Given the description of an element on the screen output the (x, y) to click on. 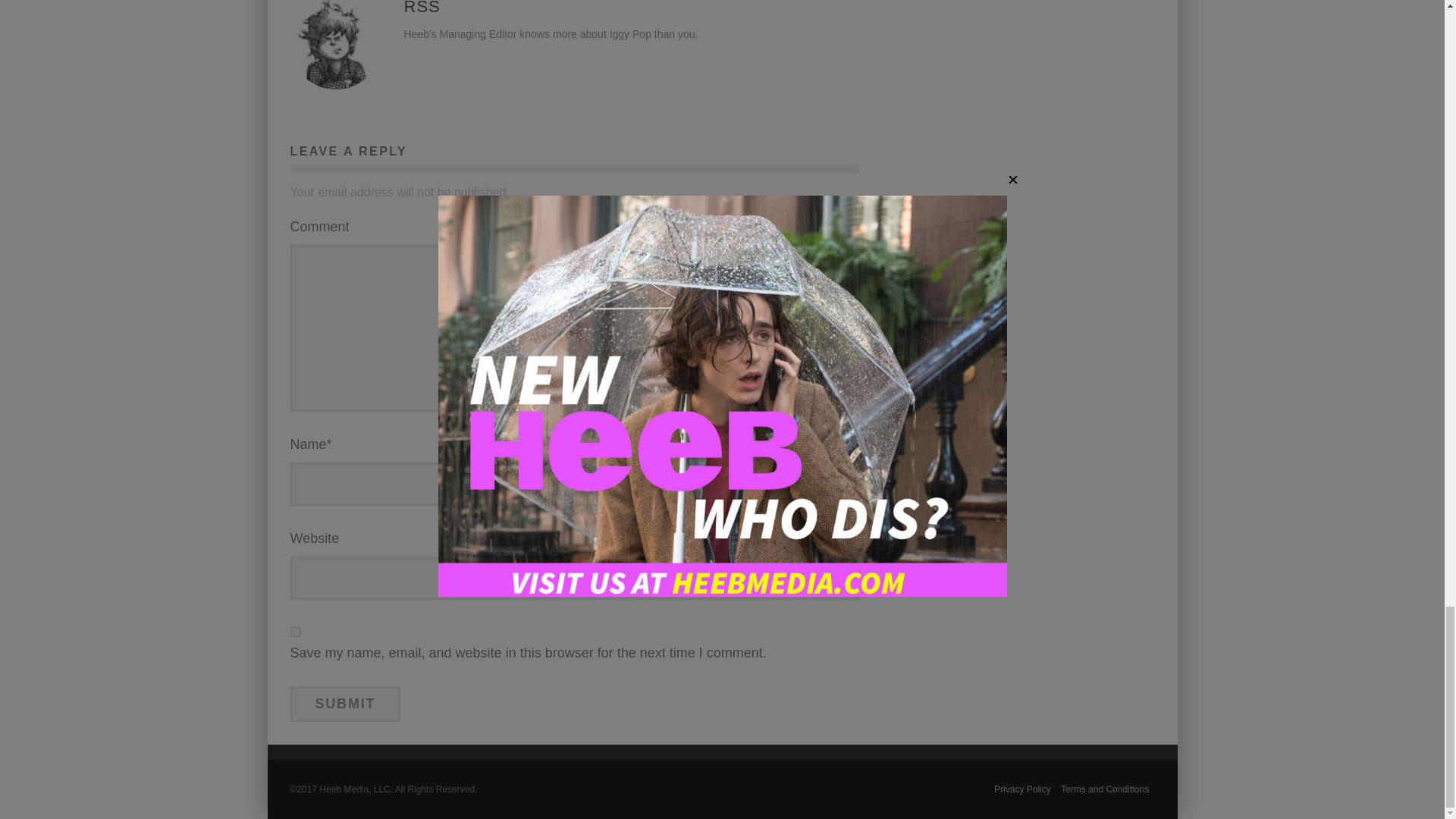
Submit (344, 703)
yes (294, 632)
